Given the description of an element on the screen output the (x, y) to click on. 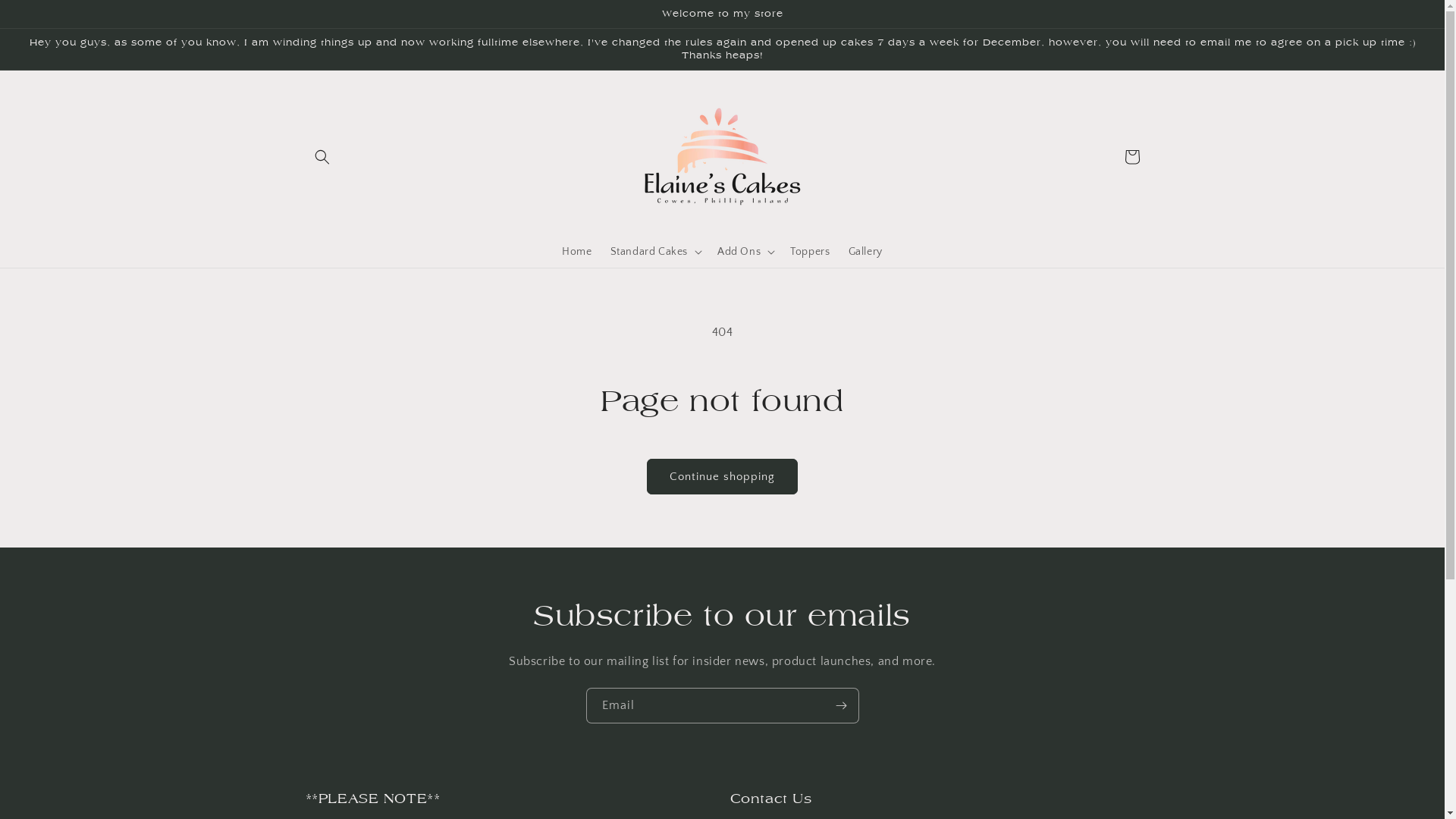
Cart Element type: text (1131, 156)
Toppers Element type: text (809, 251)
Home Element type: text (576, 251)
Continue shopping Element type: text (721, 476)
Gallery Element type: text (864, 251)
